Given the description of an element on the screen output the (x, y) to click on. 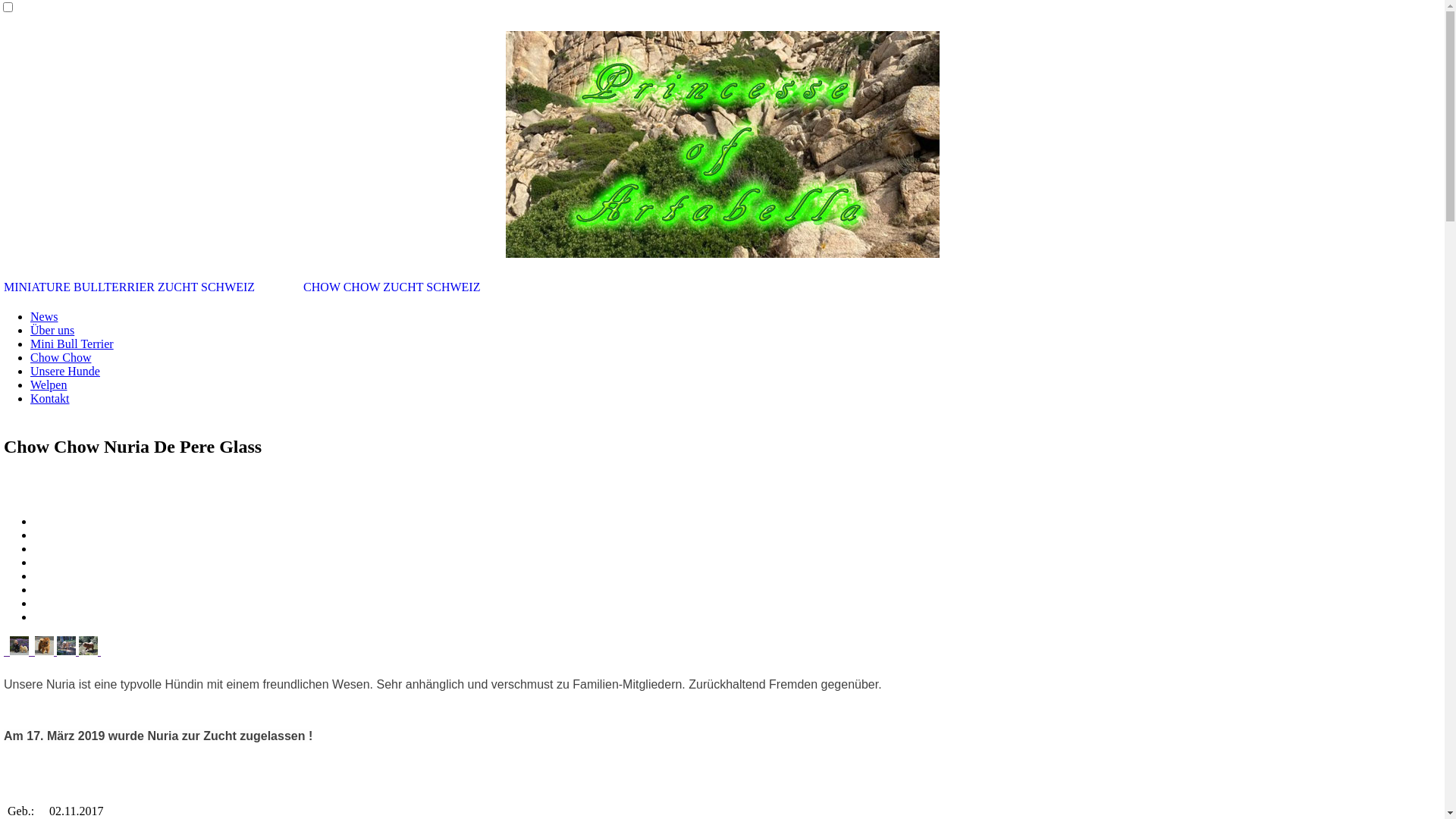
Welpen Element type: text (48, 384)
Kontakt Element type: text (49, 398)
Mini Bull Terrier Element type: text (71, 343)
News Element type: text (43, 316)
Chow Chow Element type: text (60, 357)
Unsere Hunde Element type: text (65, 370)
